Given the description of an element on the screen output the (x, y) to click on. 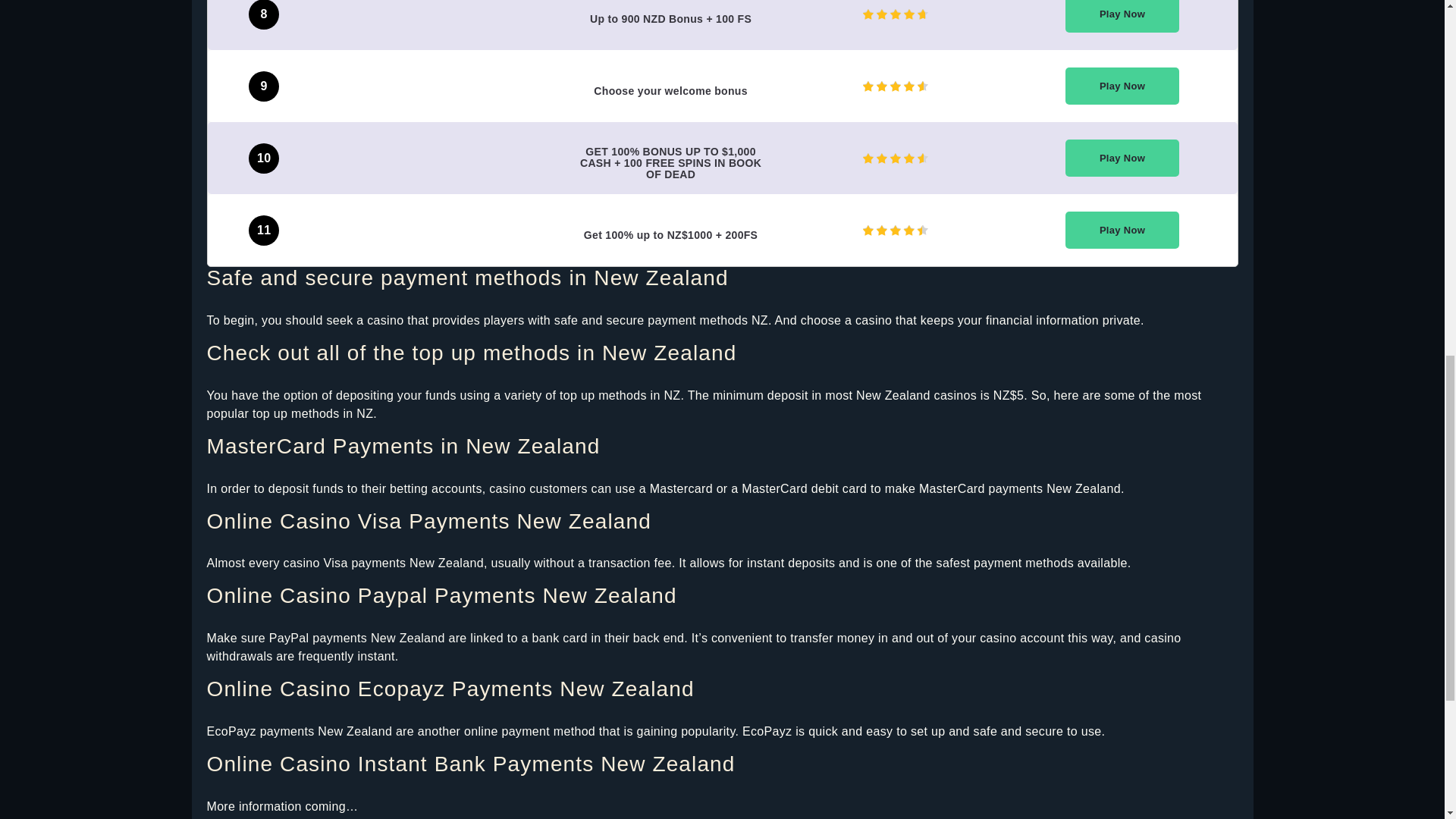
Play Now (1122, 85)
Play Now (1122, 16)
